Given the description of an element on the screen output the (x, y) to click on. 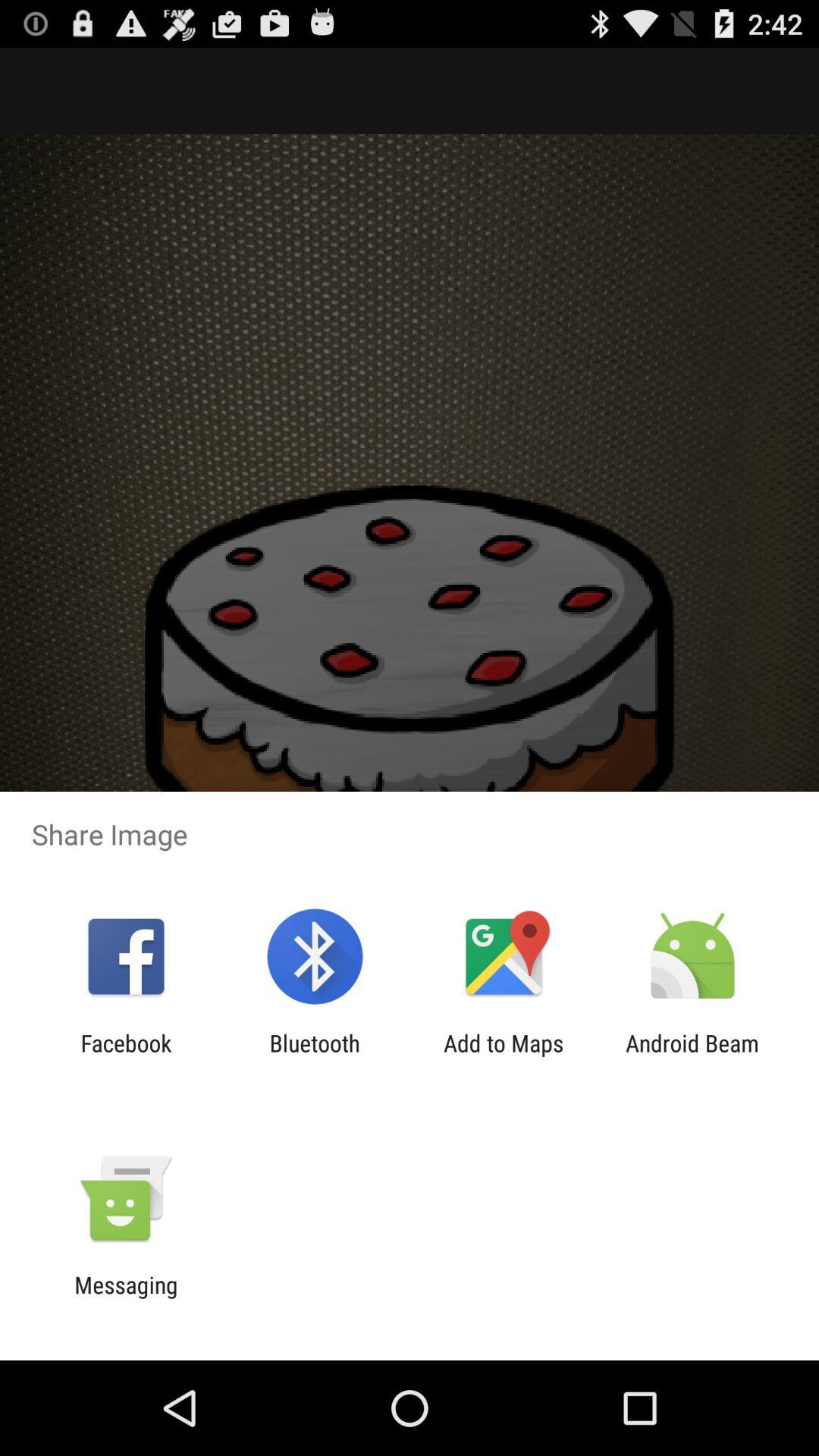
tap icon next to bluetooth item (503, 1056)
